Given the description of an element on the screen output the (x, y) to click on. 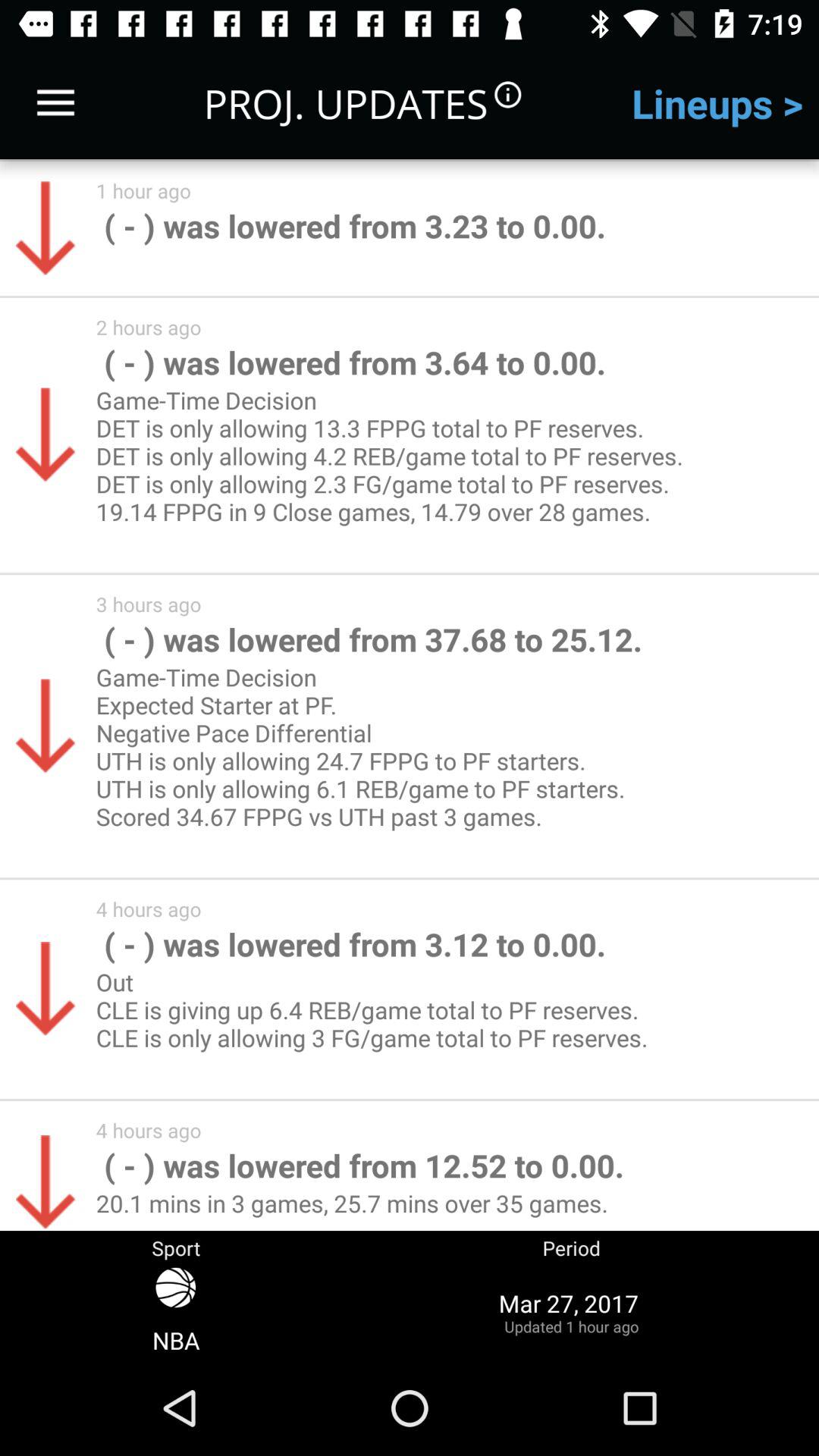
jump until the lineups > icon (717, 103)
